Given the description of an element on the screen output the (x, y) to click on. 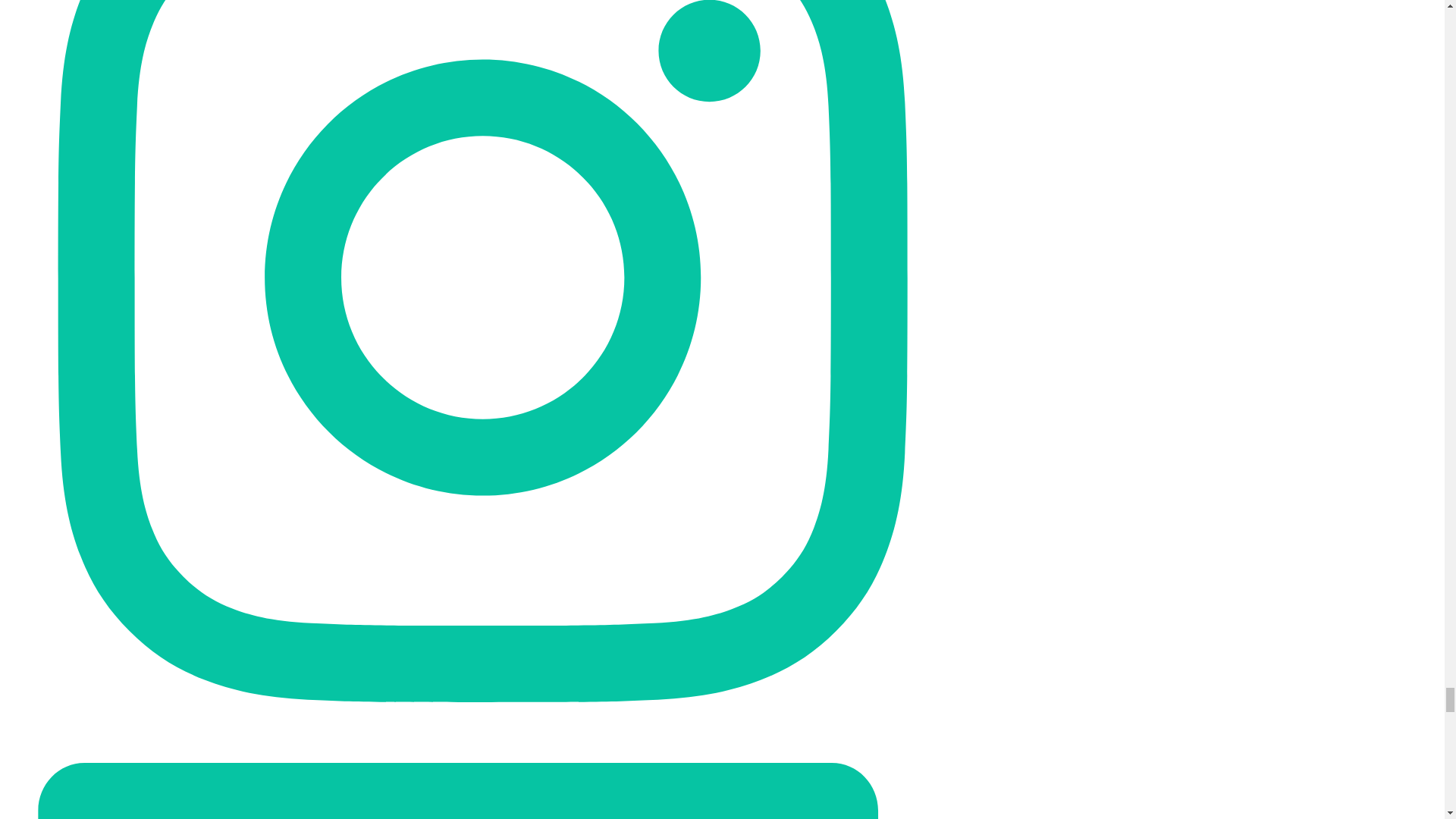
Facebook Copy-color Created with Sketch. (460, 762)
Facebook Copy-color Created with Sketch. (460, 762)
